Given the description of an element on the screen output the (x, y) to click on. 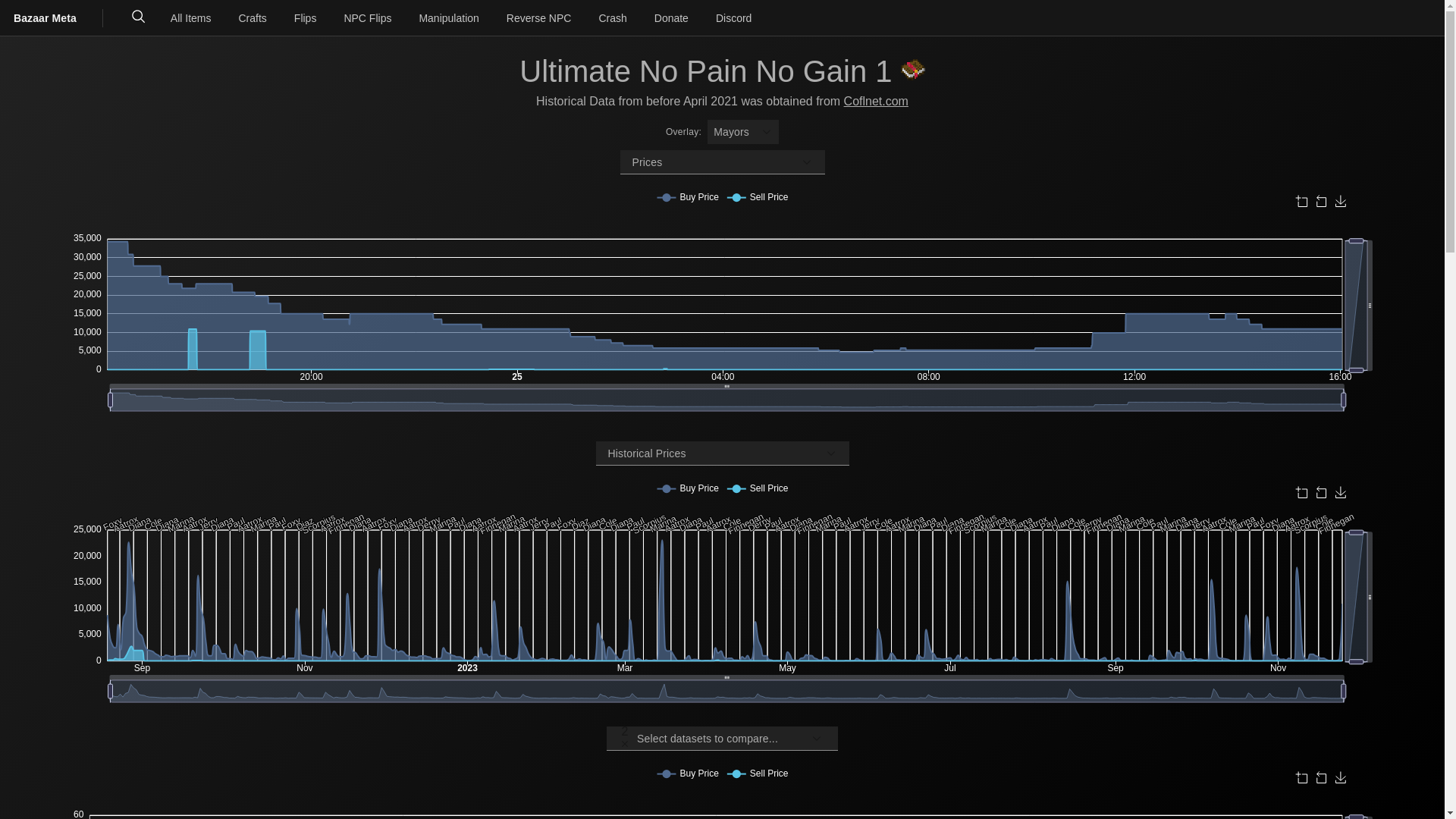
Crash Element type: text (612, 17)
All Items Element type: text (190, 17)
NPC Flips Element type: text (366, 17)
Search Element type: text (138, 17)
Donate Element type: text (671, 17)
Crafts Element type: text (251, 17)
Bazaar Meta Element type: text (51, 17)
Discord Element type: text (733, 17)
Coflnet.com Element type: text (876, 100)
Reverse NPC Element type: text (538, 17)
Manipulation Element type: text (448, 17)
Clear all selected items Element type: hover (624, 744)
Flips Element type: text (305, 17)
